Given the description of an element on the screen output the (x, y) to click on. 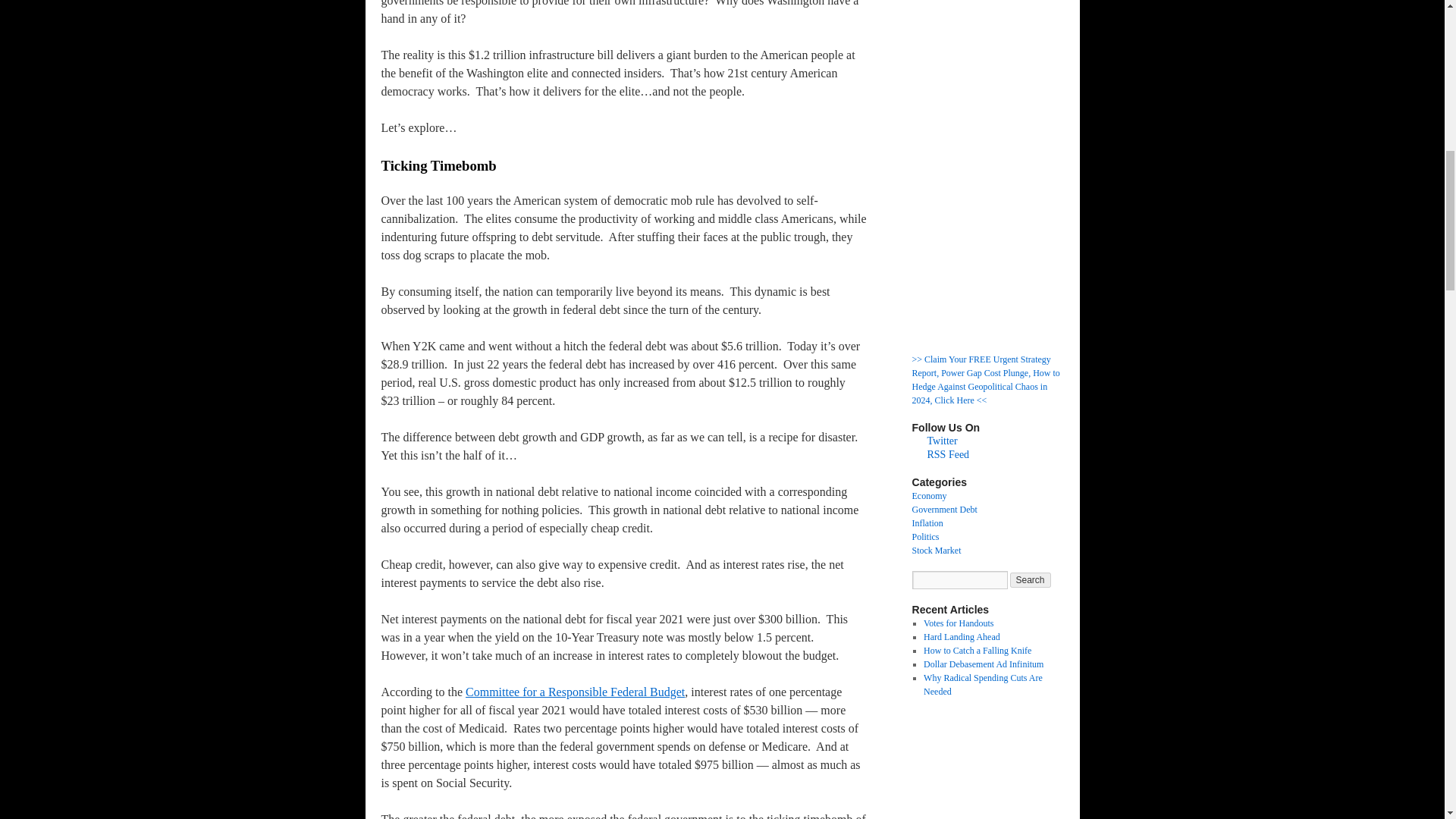
Search (1030, 580)
Follow EconomicPrism on Twitter (941, 440)
Subscribe to RSS Feed (947, 454)
Committee for a Responsible Federal Budget (574, 691)
